Given the description of an element on the screen output the (x, y) to click on. 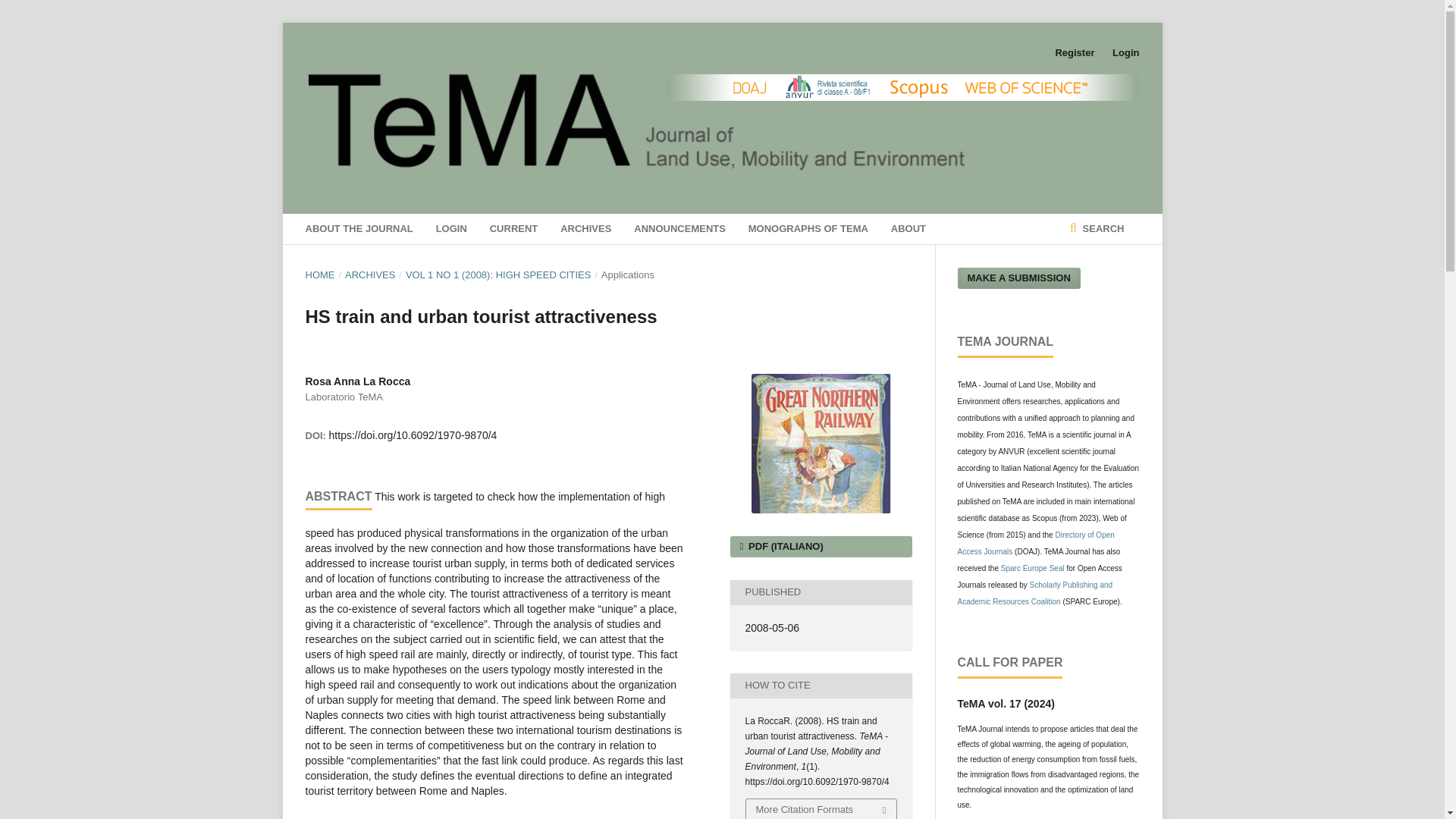
Register (1074, 52)
ABOUT (908, 228)
SEARCH (1096, 228)
CURRENT (513, 228)
HOME (319, 274)
ANNOUNCEMENTS (679, 228)
More Citation Formats (820, 809)
MONOGRAPHS OF TEMA (807, 228)
ABOUT THE JOURNAL (358, 228)
Login (1121, 52)
